Given the description of an element on the screen output the (x, y) to click on. 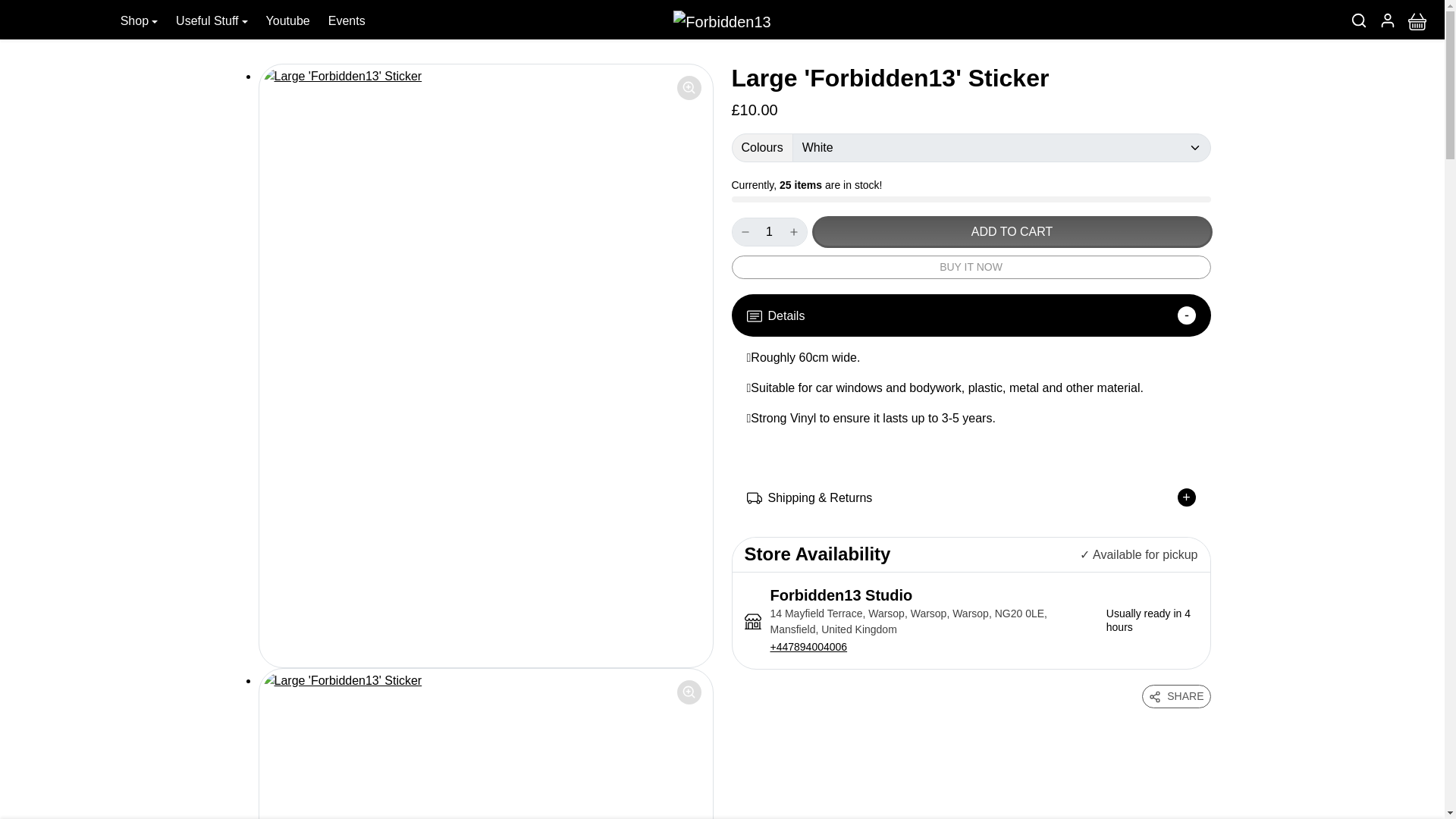
Youtube (287, 21)
Useful Stuff (212, 21)
1 (768, 231)
Shop (139, 21)
Events (346, 21)
